Given the description of an element on the screen output the (x, y) to click on. 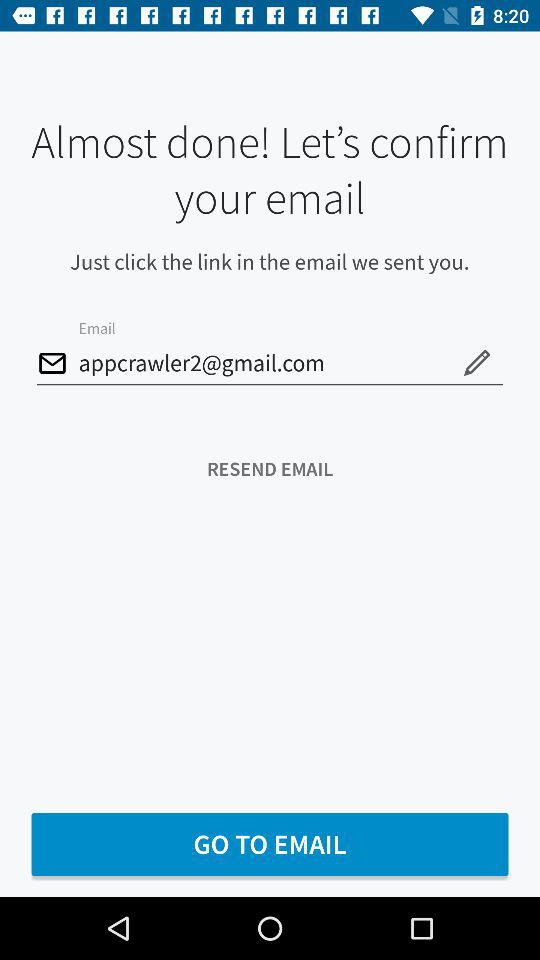
turn off item below the just click the icon (269, 363)
